Given the description of an element on the screen output the (x, y) to click on. 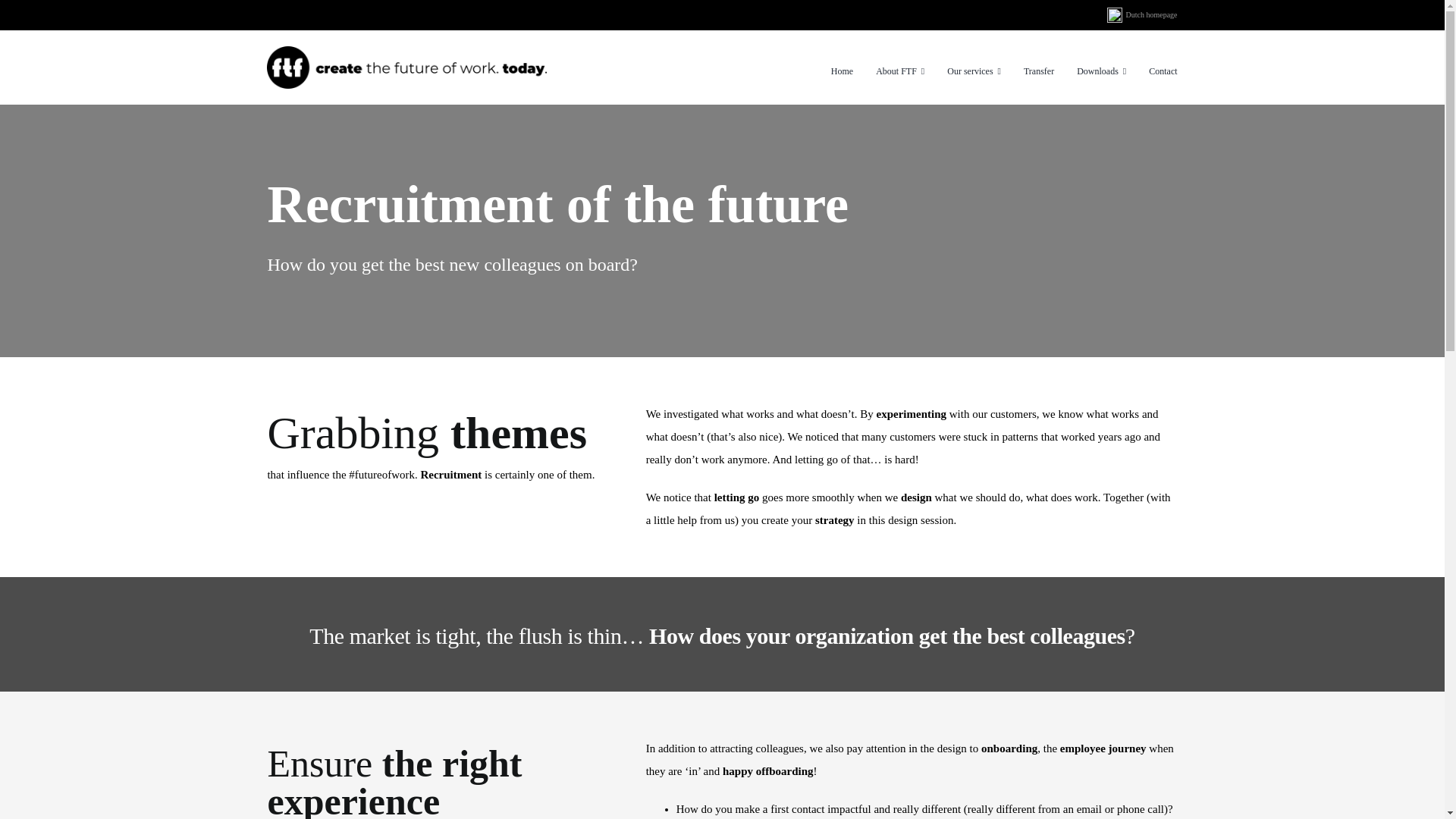
About FTF (900, 71)
Downloads (1101, 71)
Our services (974, 71)
  Dutch homepage (1149, 14)
